Given the description of an element on the screen output the (x, y) to click on. 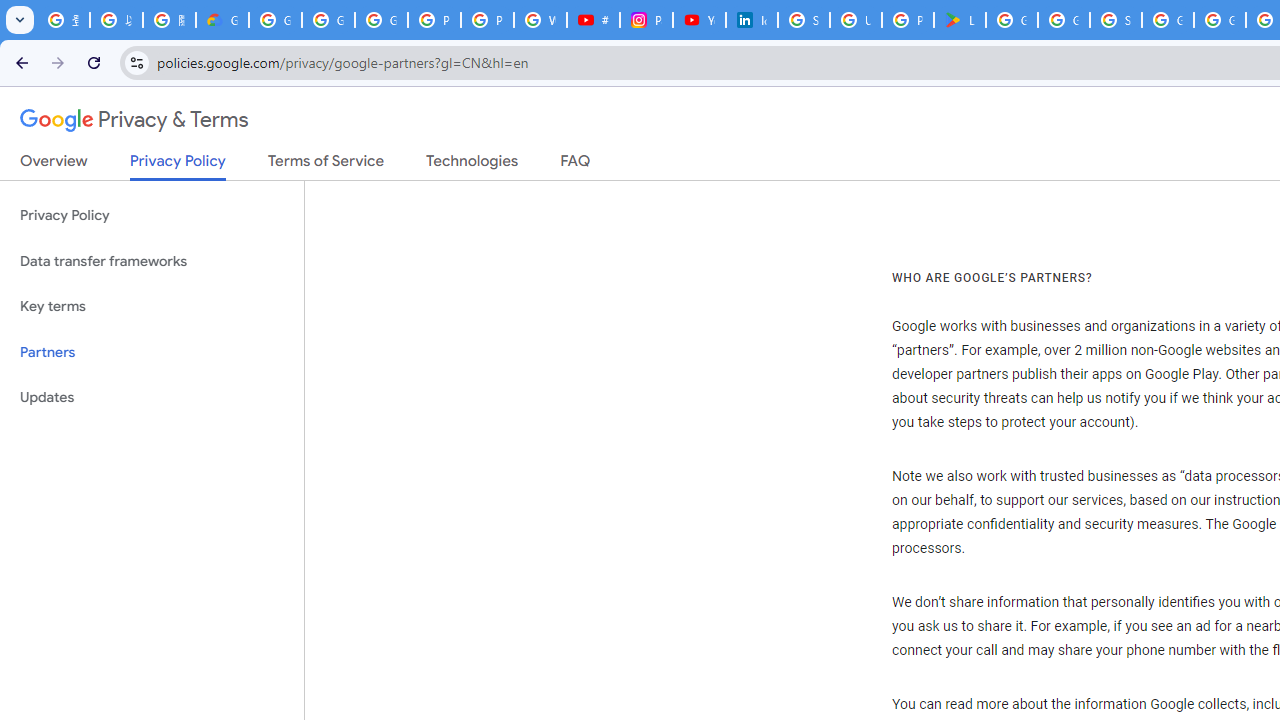
Terms of Service (326, 165)
Google Cloud Platform (1219, 20)
Overview (54, 165)
Data transfer frameworks (152, 261)
Privacy & Terms (134, 120)
Sign in - Google Accounts (1115, 20)
Updates (152, 398)
